Given the description of an element on the screen output the (x, y) to click on. 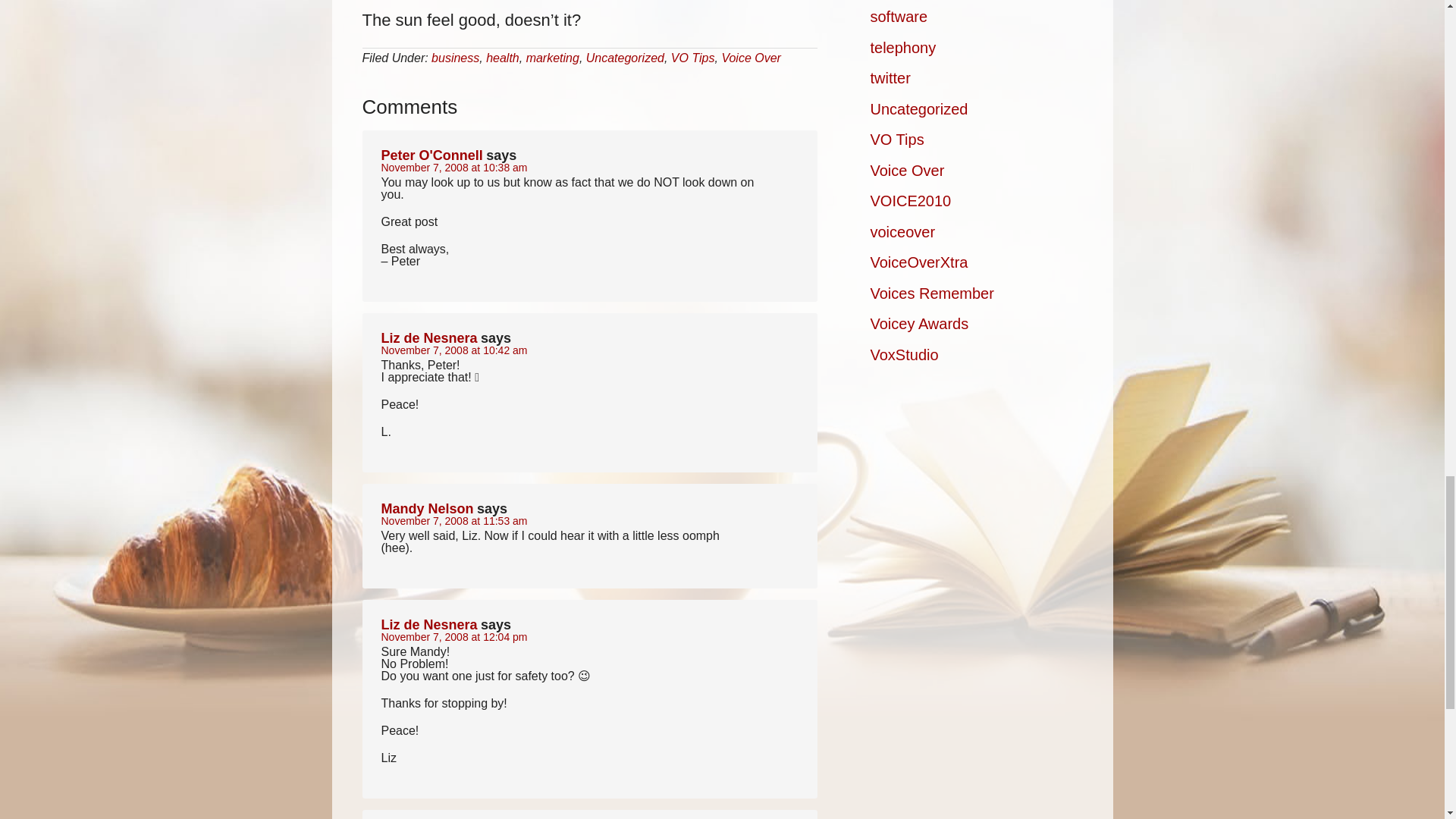
Peter O'Connell (430, 155)
health (502, 57)
Liz de Nesnera (428, 337)
Mandy Nelson (426, 508)
Liz de Nesnera (428, 624)
VO Tips (692, 57)
November 7, 2008 at 10:38 am (453, 167)
marketing (552, 57)
November 7, 2008 at 11:53 am (453, 521)
November 7, 2008 at 10:42 am (453, 349)
